Given the description of an element on the screen output the (x, y) to click on. 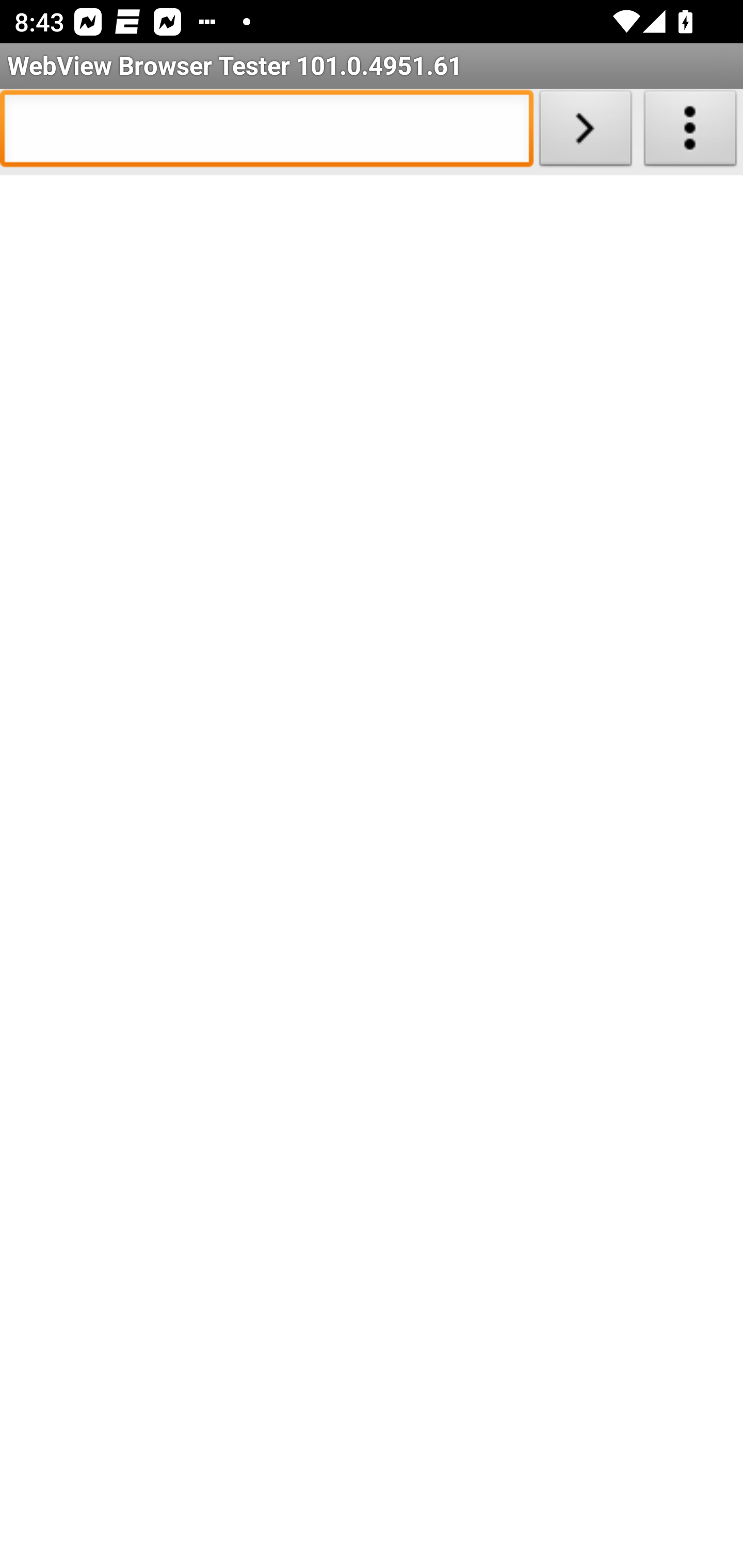
Load URL (585, 132)
About WebView (690, 132)
